Given the description of an element on the screen output the (x, y) to click on. 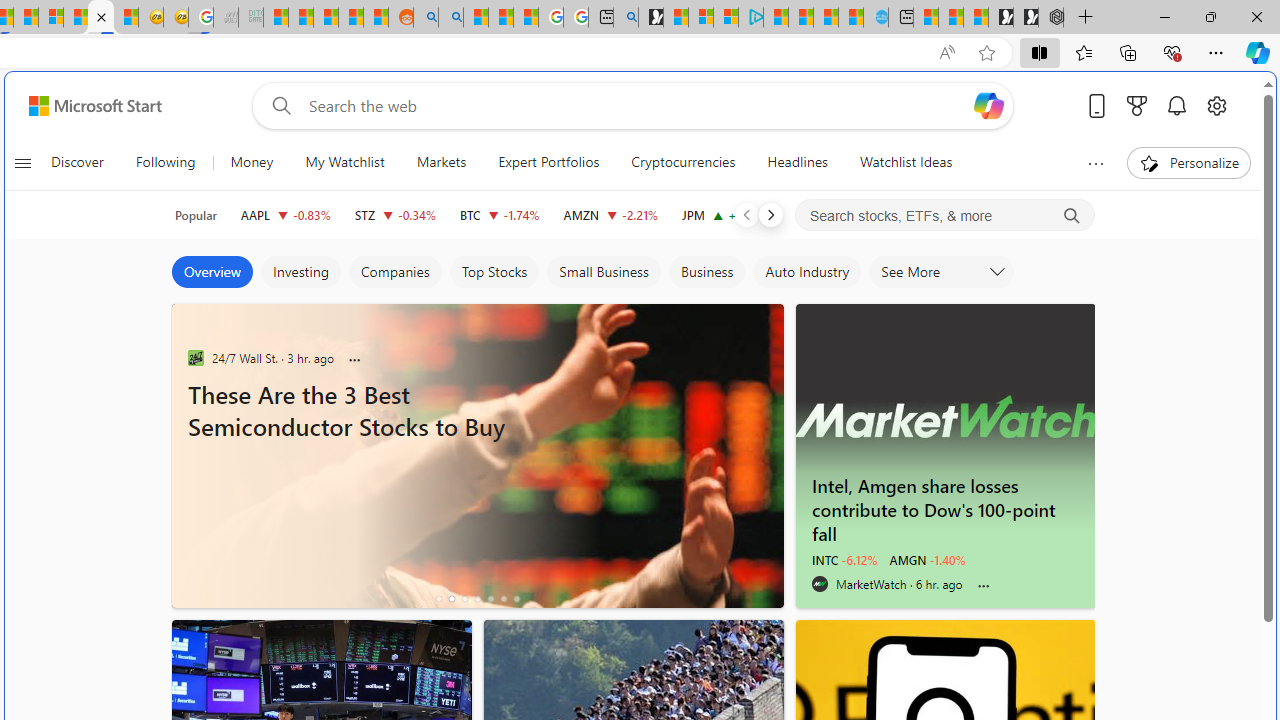
Cryptocurrencies (683, 162)
Watchlist Ideas (905, 162)
My Watchlist (344, 162)
My Watchlist (344, 162)
MarketWatch (819, 583)
Auto Industry (806, 272)
